Given the description of an element on the screen output the (x, y) to click on. 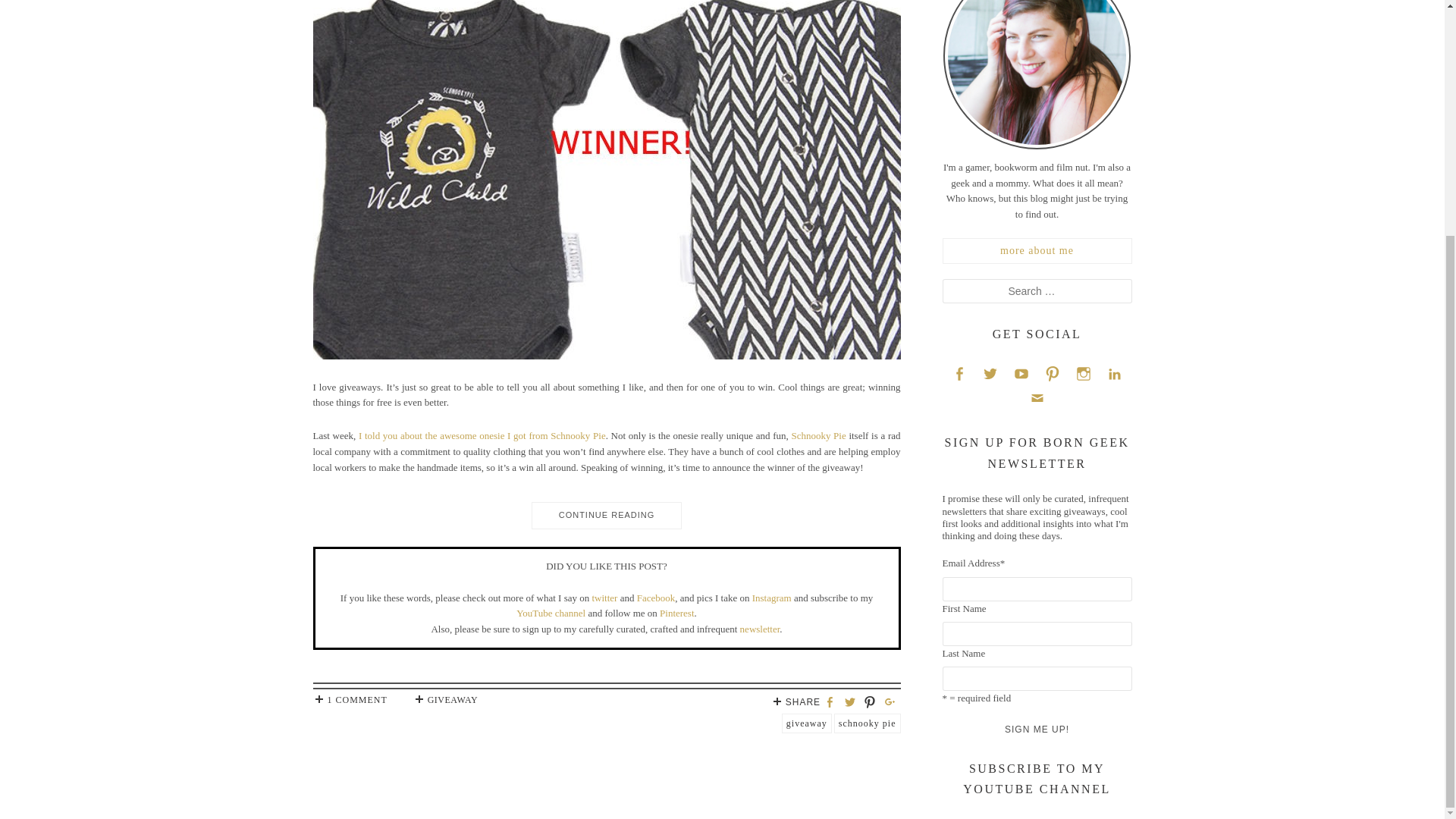
Twitter (989, 373)
Instagram (1082, 373)
CONTINUE READING (606, 509)
Instagram (772, 597)
schnooky pie (867, 723)
I told you about the awesome onesie I got from Schnooky Pie (481, 435)
Email (1036, 397)
Facebook (959, 373)
View all posts in Giveaway (453, 699)
Schnooky Pie (817, 435)
